Given the description of an element on the screen output the (x, y) to click on. 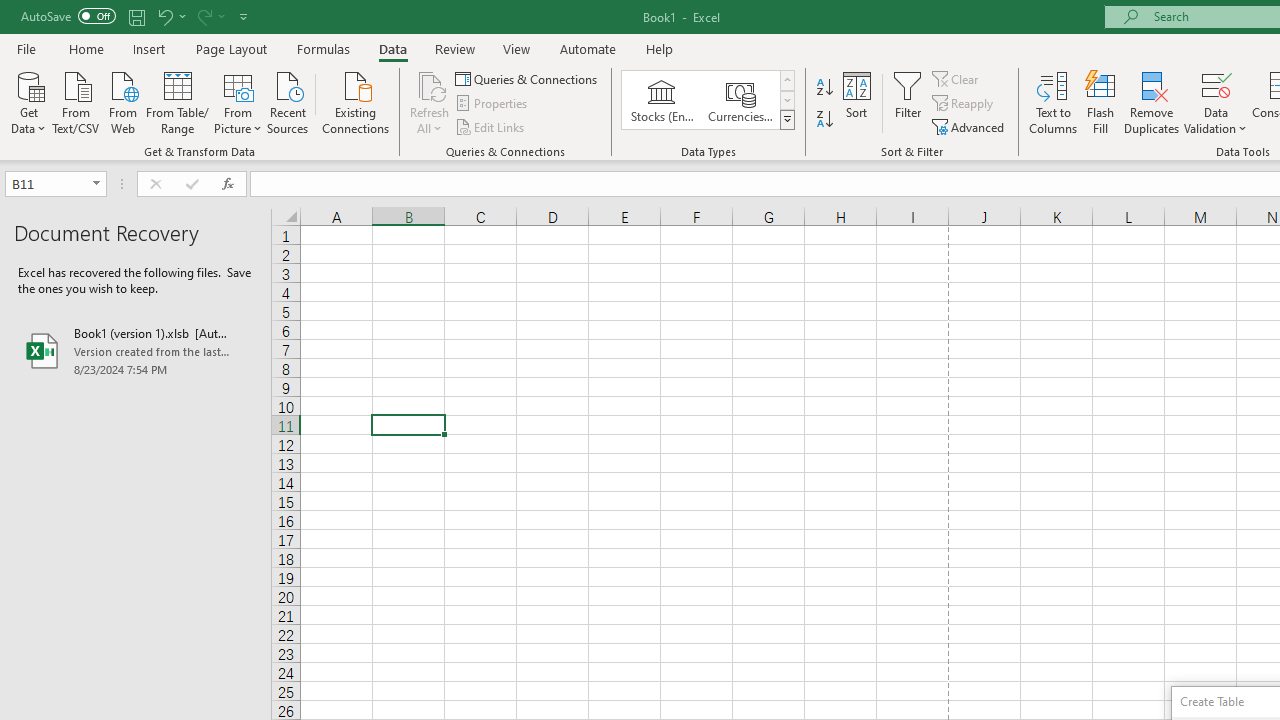
Open (96, 183)
Get Data (28, 101)
Text to Columns... (1053, 102)
Insert (149, 48)
From Text/CSV (75, 101)
View (517, 48)
Book1 (version 1).xlsb  [AutoRecovered] (136, 350)
Remove Duplicates (1151, 102)
From Table/Range (177, 101)
Recent Sources (287, 101)
Customize Quick Access Toolbar (244, 15)
Properties (492, 103)
